Given the description of an element on the screen output the (x, y) to click on. 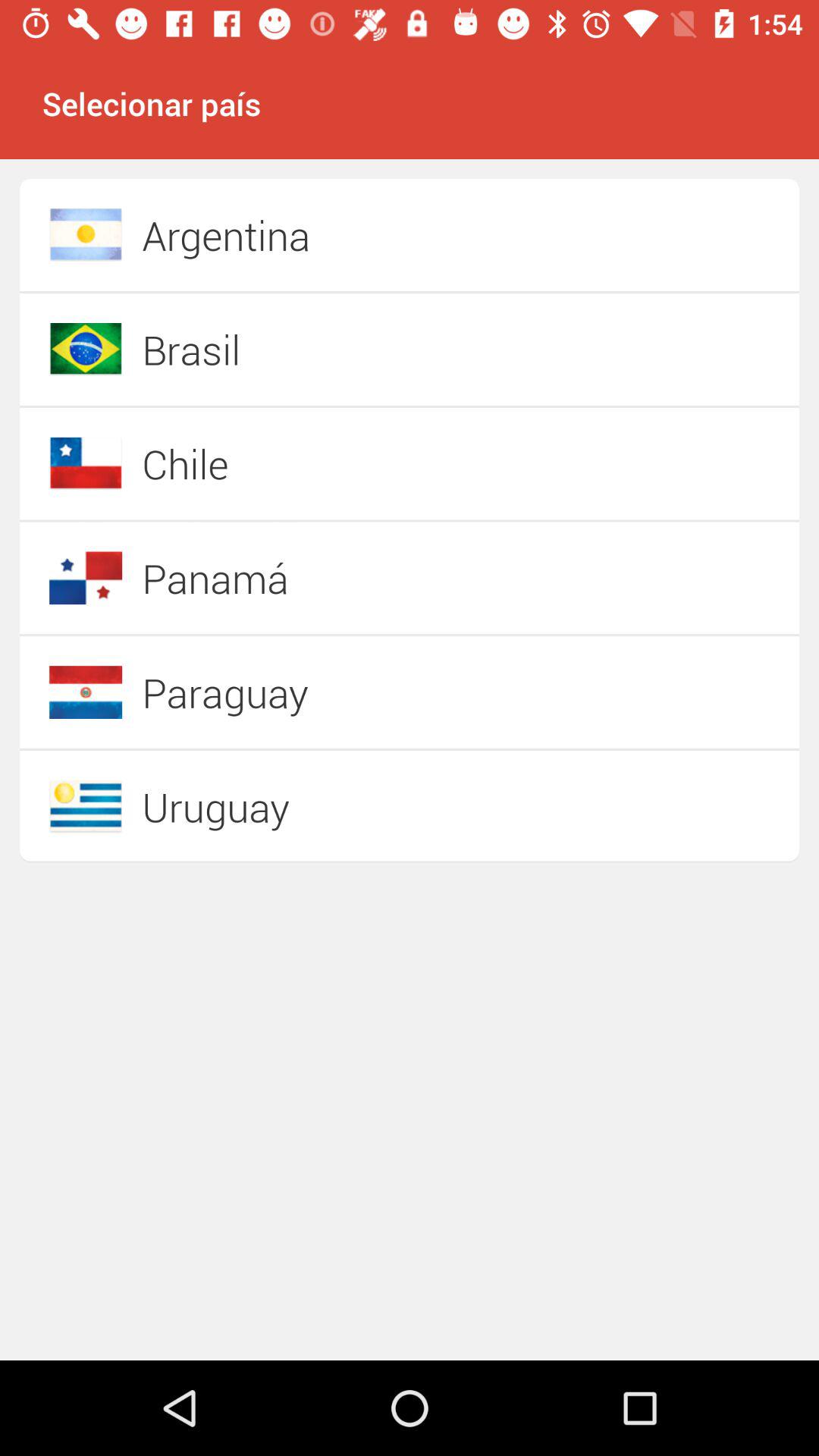
choose icon above the paraguay icon (356, 577)
